Given the description of an element on the screen output the (x, y) to click on. 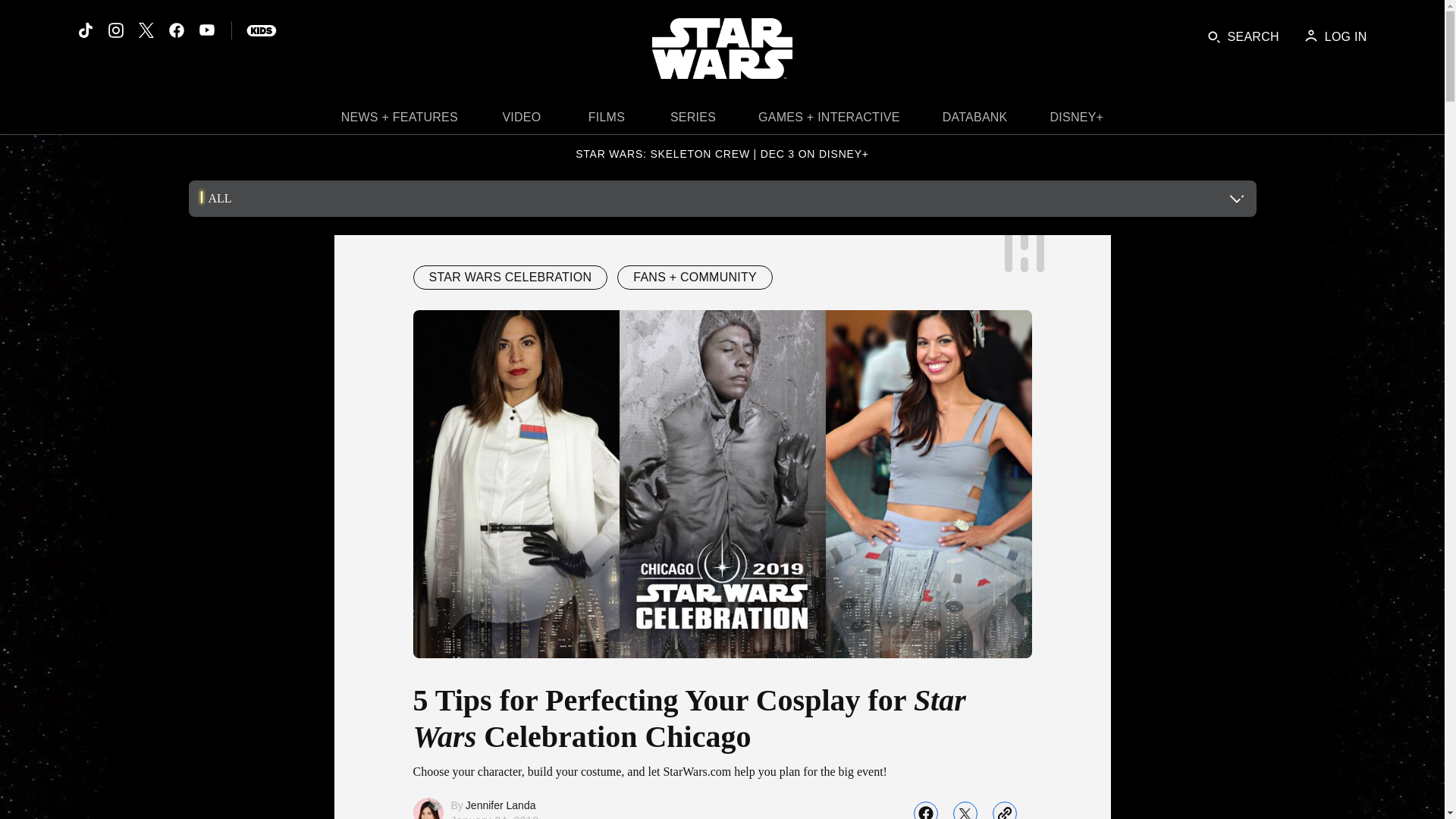
DATABANK (975, 121)
SERIES (692, 121)
VIDEO (521, 121)
LOG IN (1334, 36)
Instagram (114, 29)
Twitter (145, 29)
FILMS (606, 121)
YouTube (206, 29)
Facebook (175, 29)
